Given the description of an element on the screen output the (x, y) to click on. 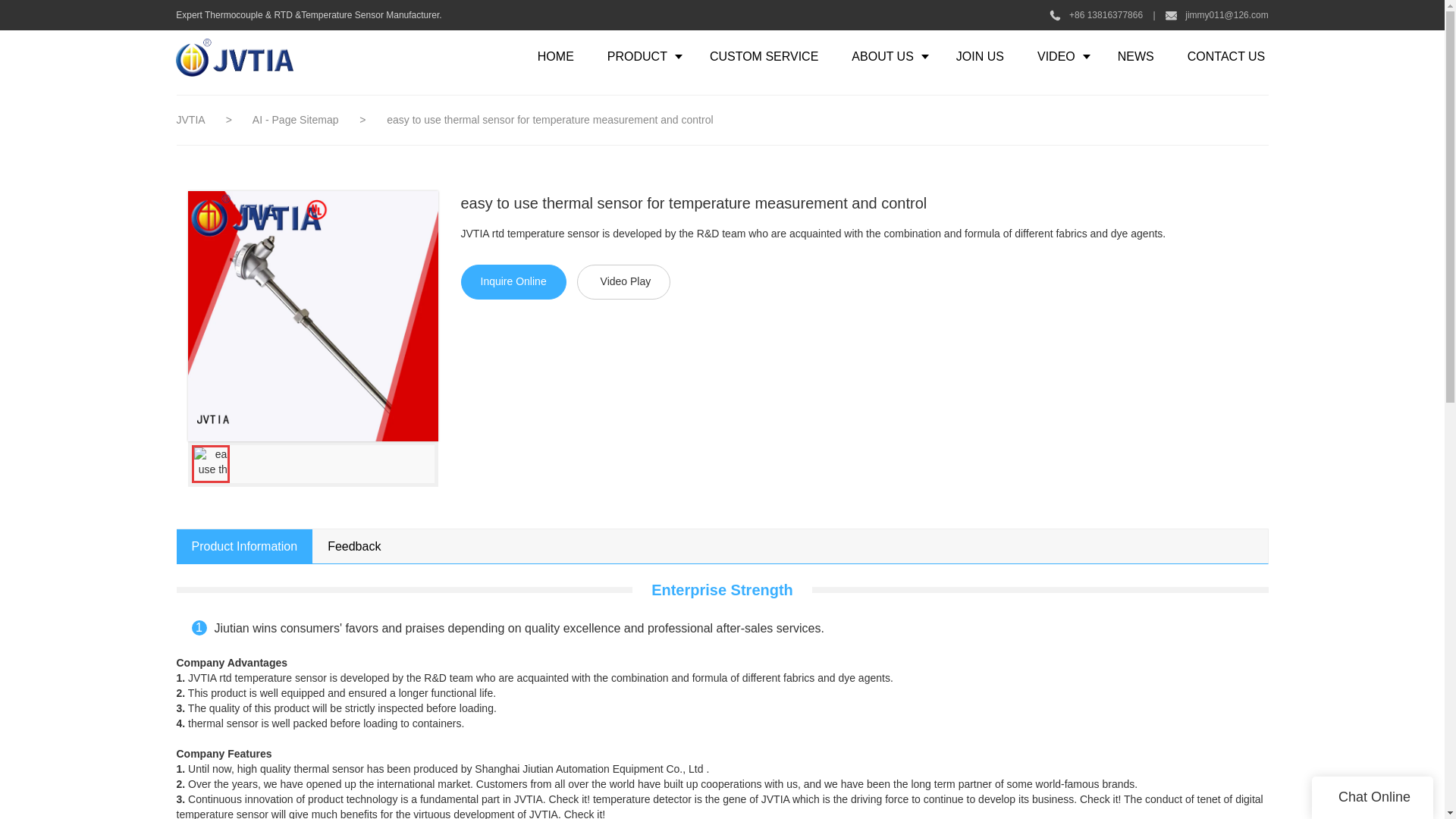
JOIN US (979, 56)
ABOUT US (886, 56)
CUSTOM SERVICE (763, 56)
HOME (556, 56)
NEWS (1135, 56)
PRODUCT (642, 56)
VIDEO (1060, 56)
